Given the description of an element on the screen output the (x, y) to click on. 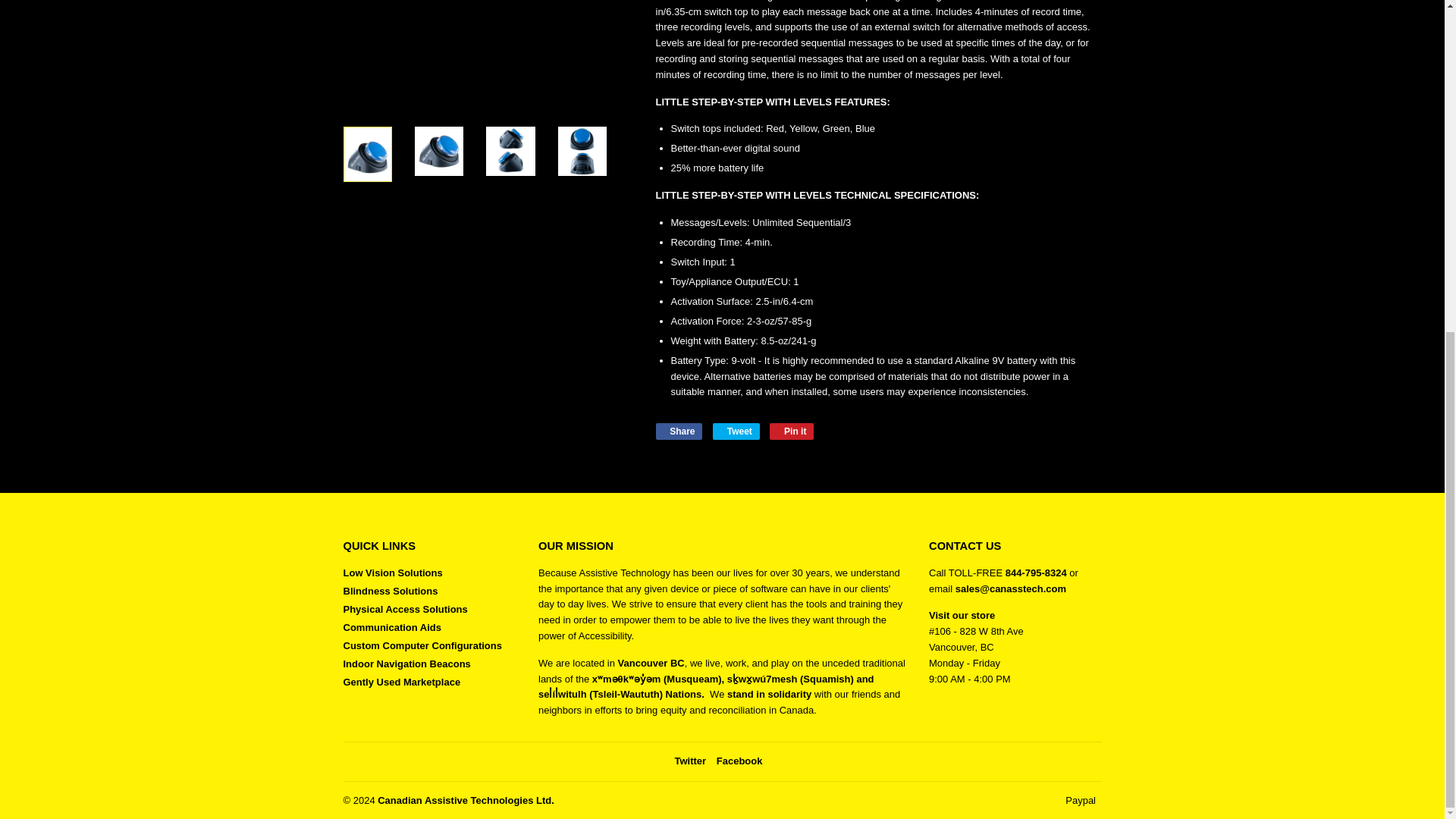
Tweet on Twitter (736, 431)
Canadian Assistive Technologies Ltd. on Twitter (690, 760)
Canadian Assistive Technologies Ltd. on Facebook (739, 760)
Share on Facebook (678, 431)
Pin on Pinterest (791, 431)
